Given the description of an element on the screen output the (x, y) to click on. 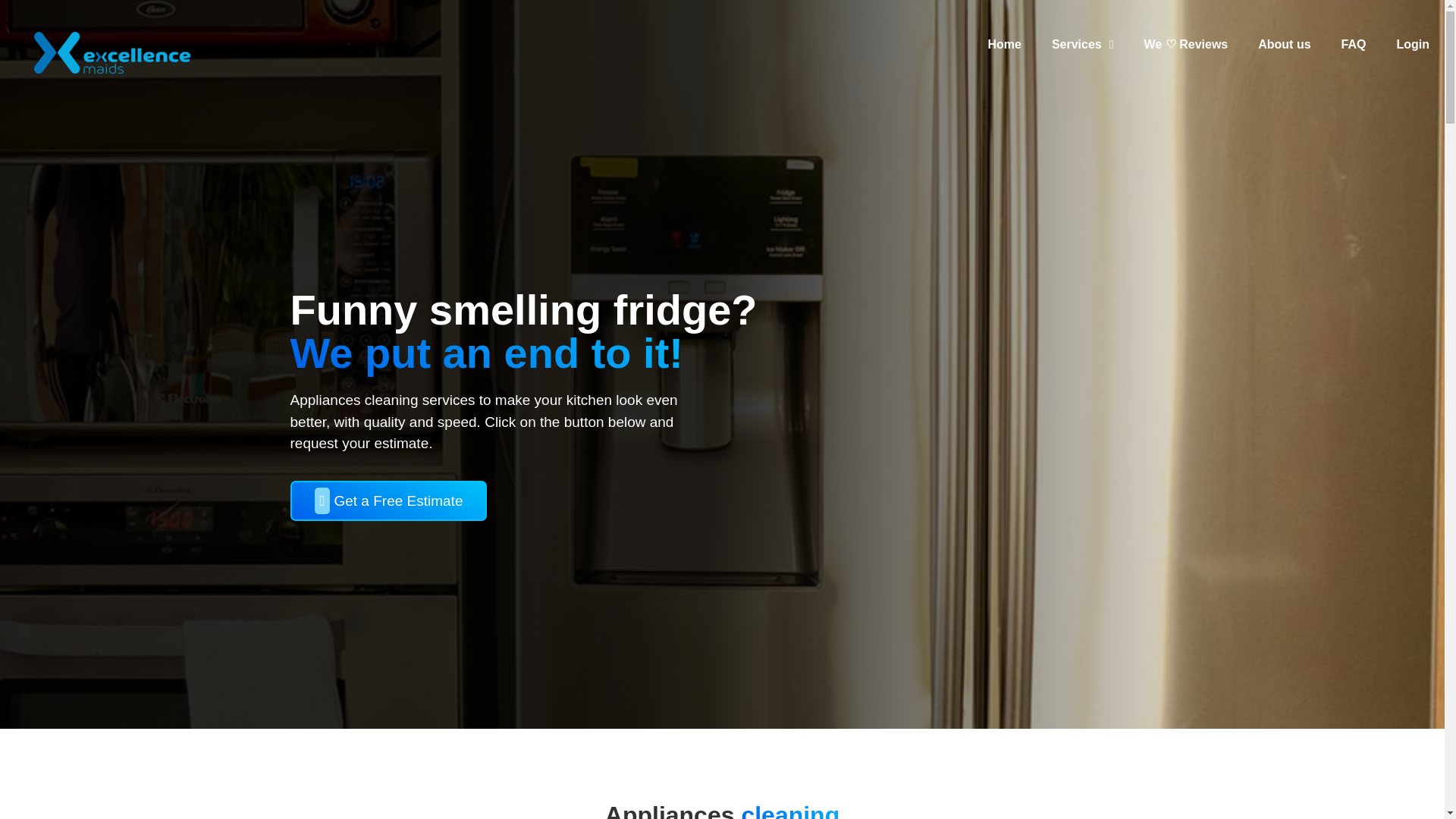
About us (1283, 44)
Get a Free Estimate (387, 500)
FAQ (1353, 44)
Services (1082, 44)
Home (1003, 44)
